Given the description of an element on the screen output the (x, y) to click on. 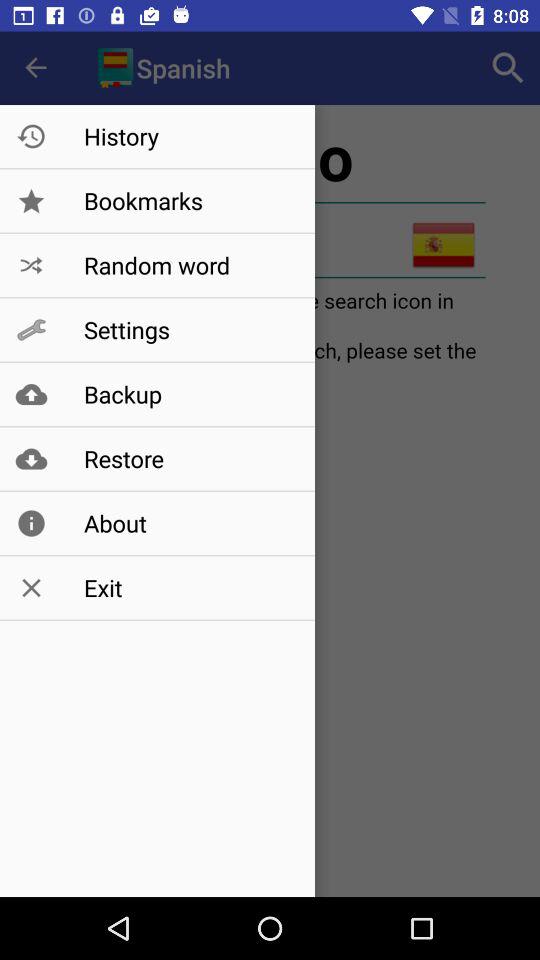
click the item to the right of history item (508, 67)
